Given the description of an element on the screen output the (x, y) to click on. 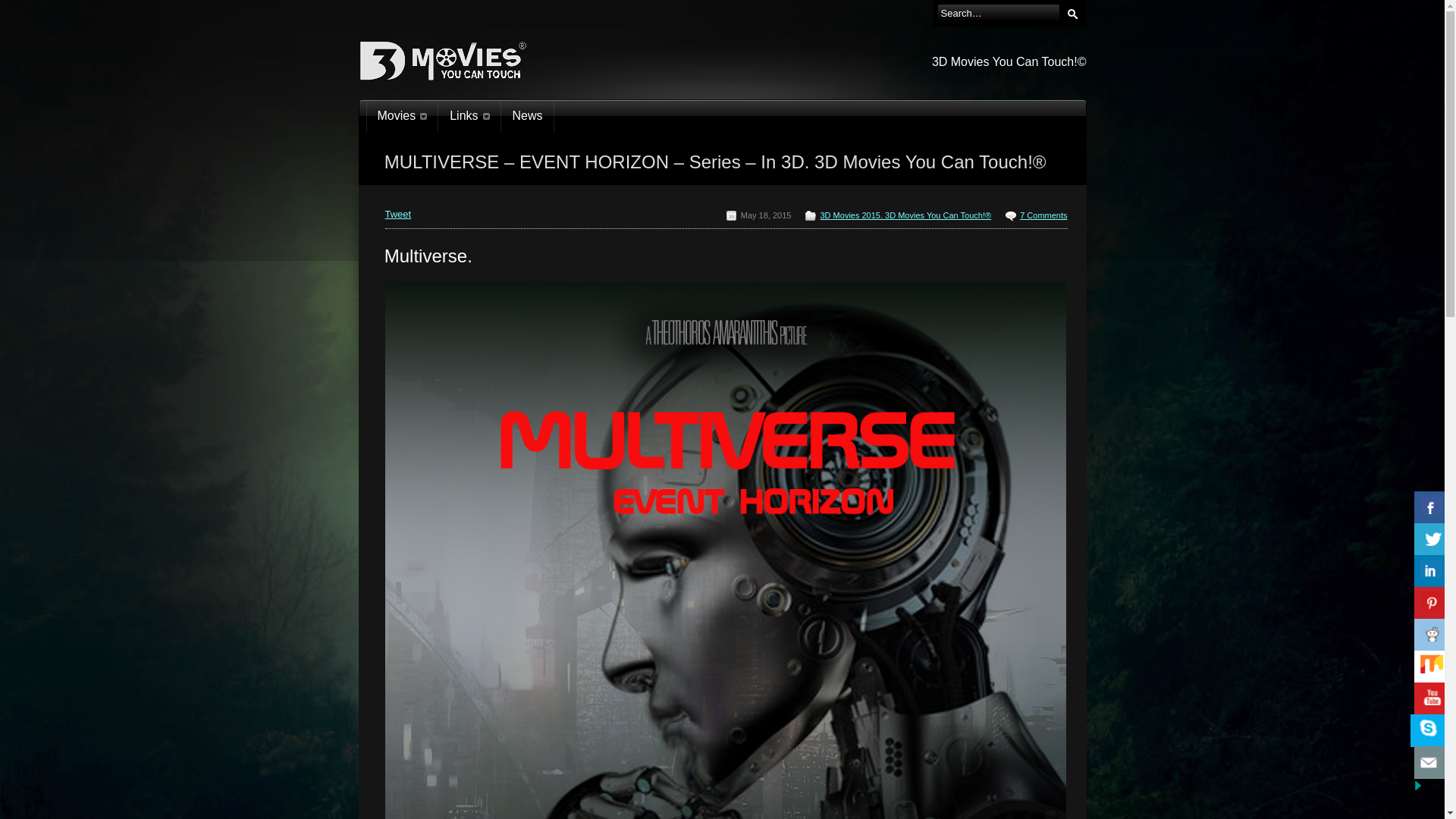
Share On Stumbleupon Element type: hover (1431, 666)
Share On Facebook Element type: hover (1431, 507)
News Element type: text (527, 116)
Home Element type: text (447, 178)
Share On Reddit Element type: hover (1431, 634)
Share On Twitter Element type: hover (1431, 539)
7 Comments Element type: text (1042, 214)
Tweet Element type: text (398, 213)
Hide Buttons Element type: hover (1429, 648)
Share On Youtube Element type: hover (1431, 698)
Contact us Element type: hover (1431, 762)
Share On Pinterest Element type: hover (1431, 602)
Movies  Element type: text (401, 116)
Links  Element type: text (469, 116)
Share On Linkedin Element type: hover (1431, 571)
